Given the description of an element on the screen output the (x, y) to click on. 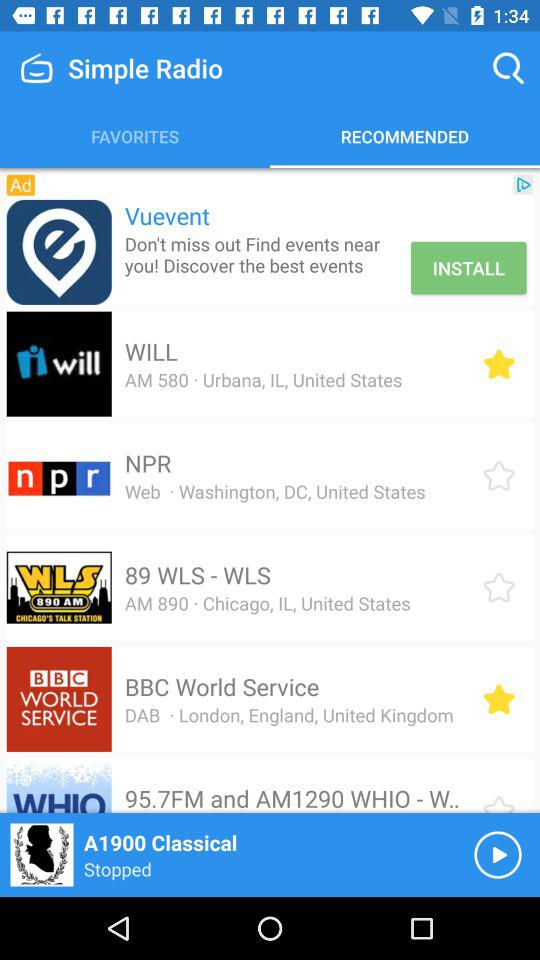
choose item above will (264, 254)
